Given the description of an element on the screen output the (x, y) to click on. 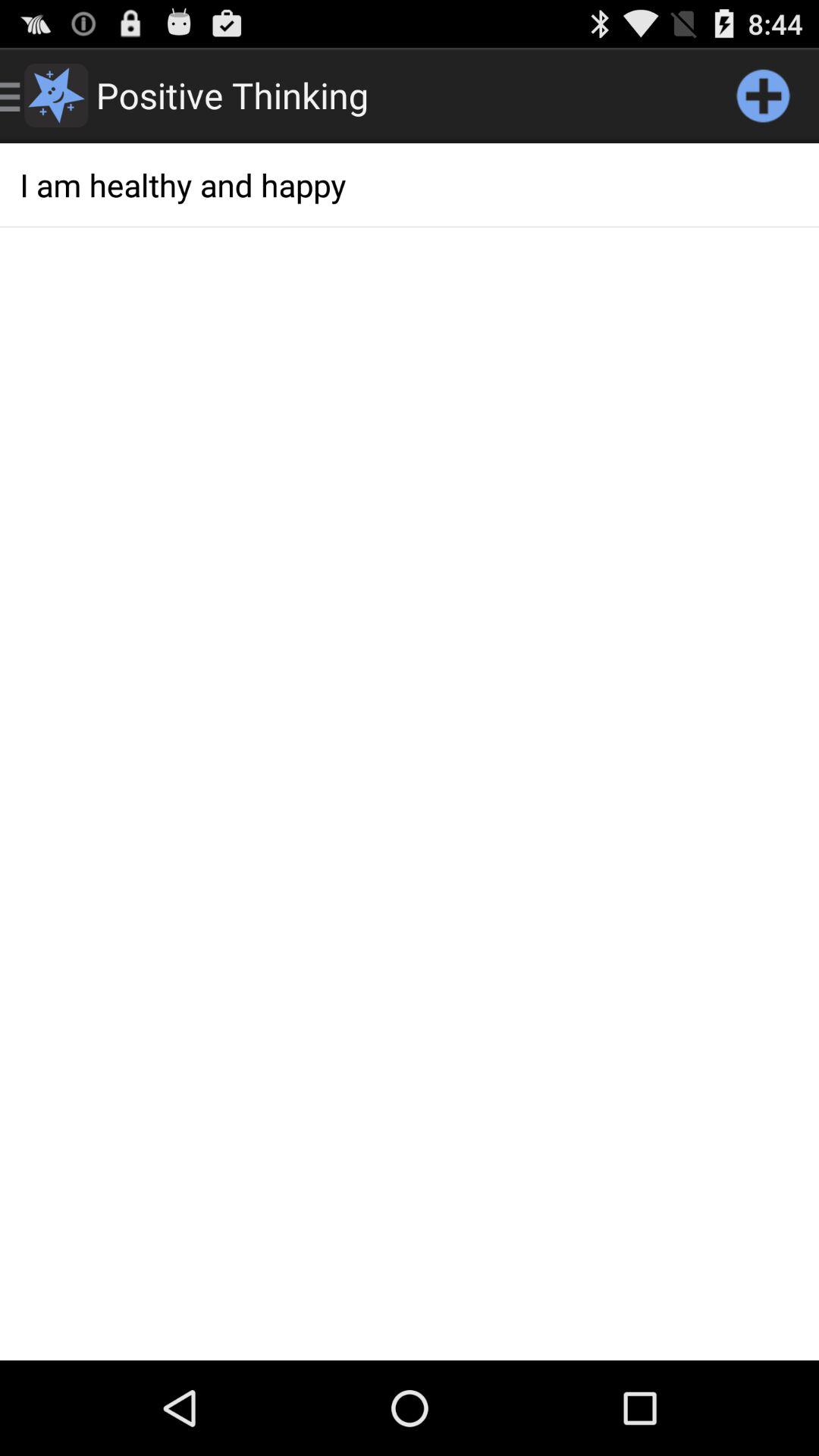
turn on icon to the right of positive thinking (763, 95)
